Given the description of an element on the screen output the (x, y) to click on. 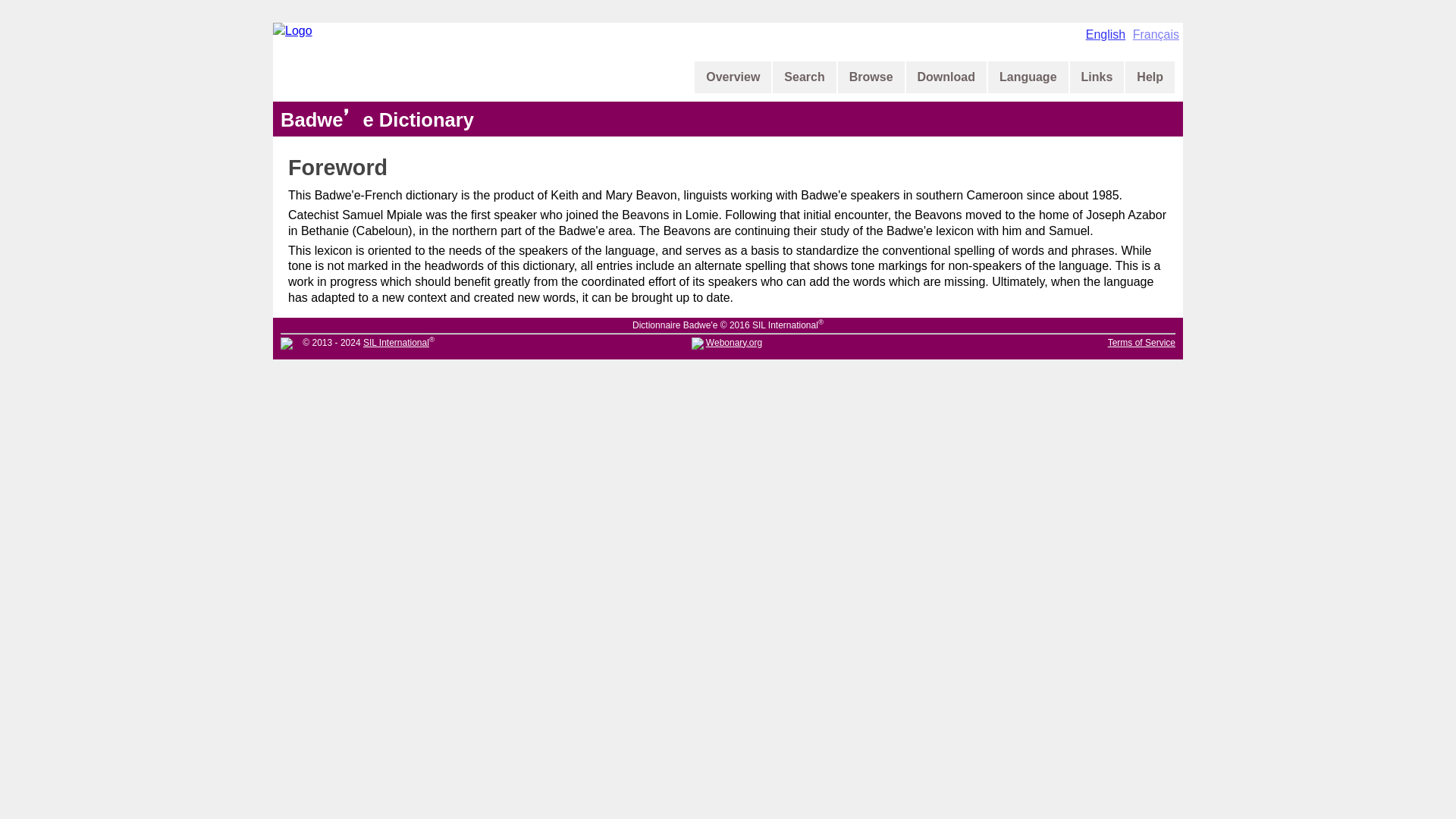
Download (946, 77)
Links (1097, 77)
English (1105, 33)
Search (804, 77)
Language (1028, 77)
Browse (871, 77)
Help (1149, 77)
Overview (732, 77)
